Given the description of an element on the screen output the (x, y) to click on. 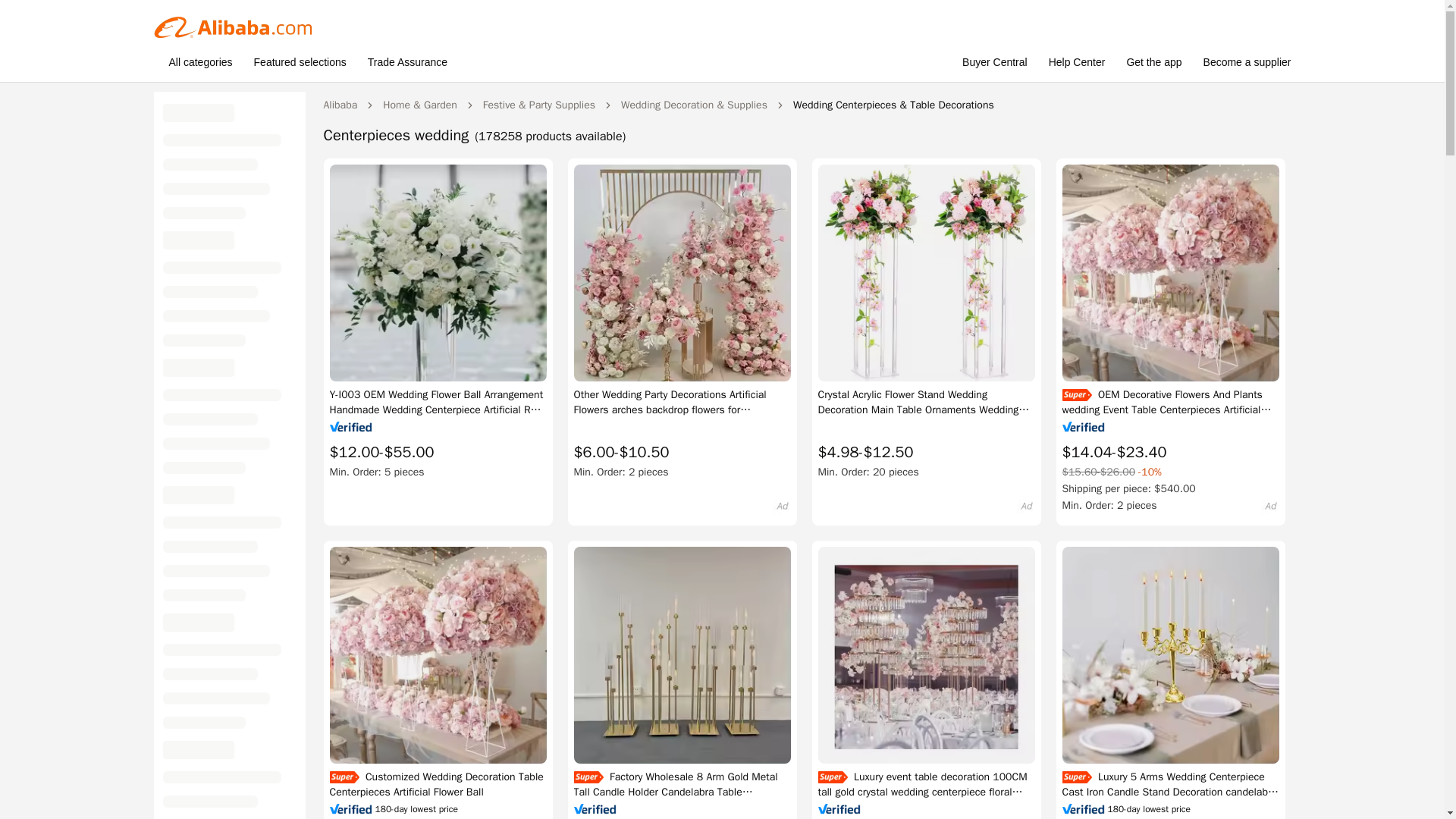
Alibaba (339, 105)
